Given the description of an element on the screen output the (x, y) to click on. 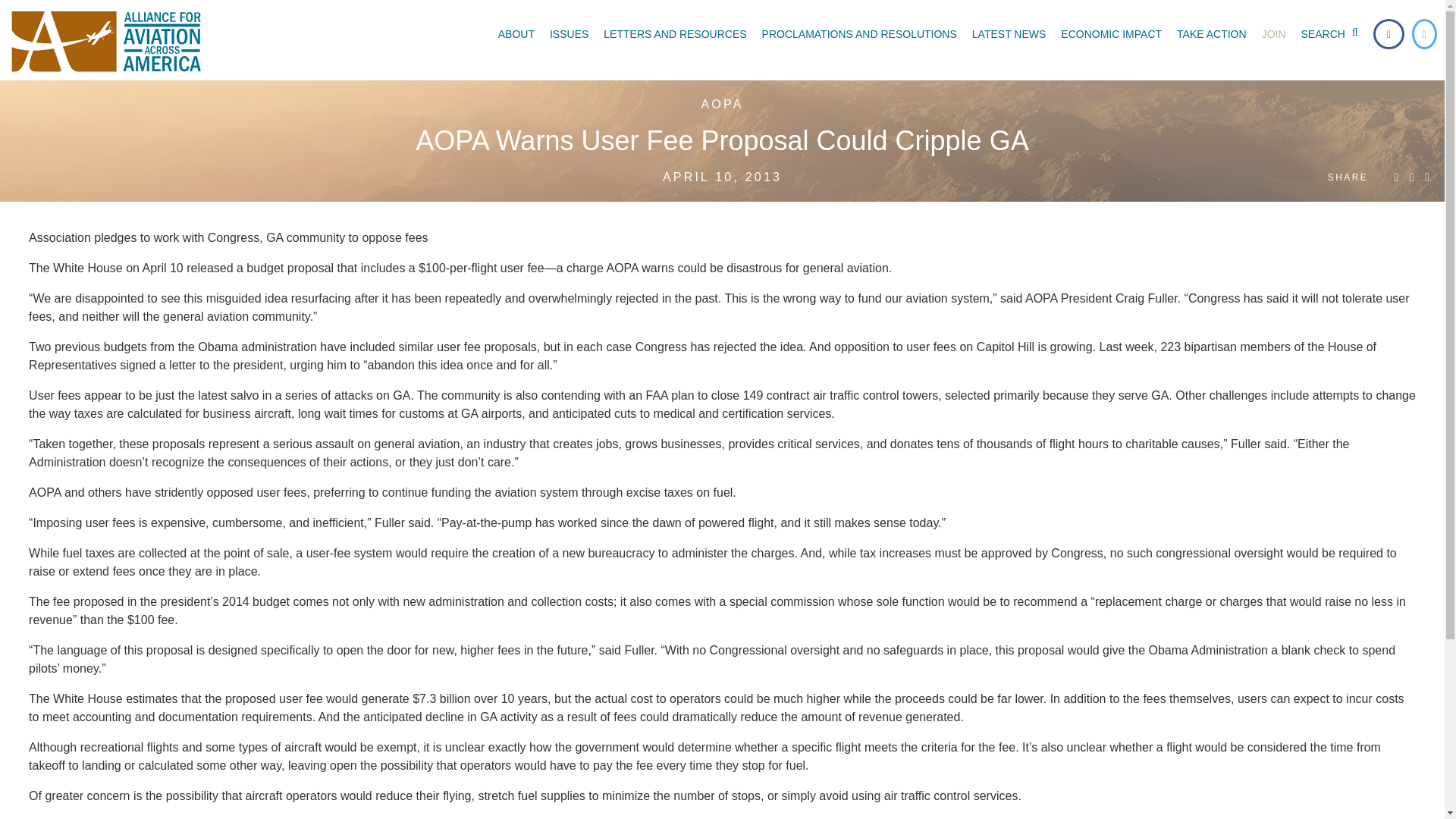
JOIN (1273, 33)
PROCLAMATIONS AND RESOLUTIONS (858, 33)
ABOUT (515, 33)
TAKE ACTION (1211, 33)
LETTERS AND RESOURCES (674, 33)
SEARCH (1333, 33)
ECONOMIC IMPACT (1110, 33)
ISSUES (568, 33)
LATEST NEWS (1008, 33)
